Given the description of an element on the screen output the (x, y) to click on. 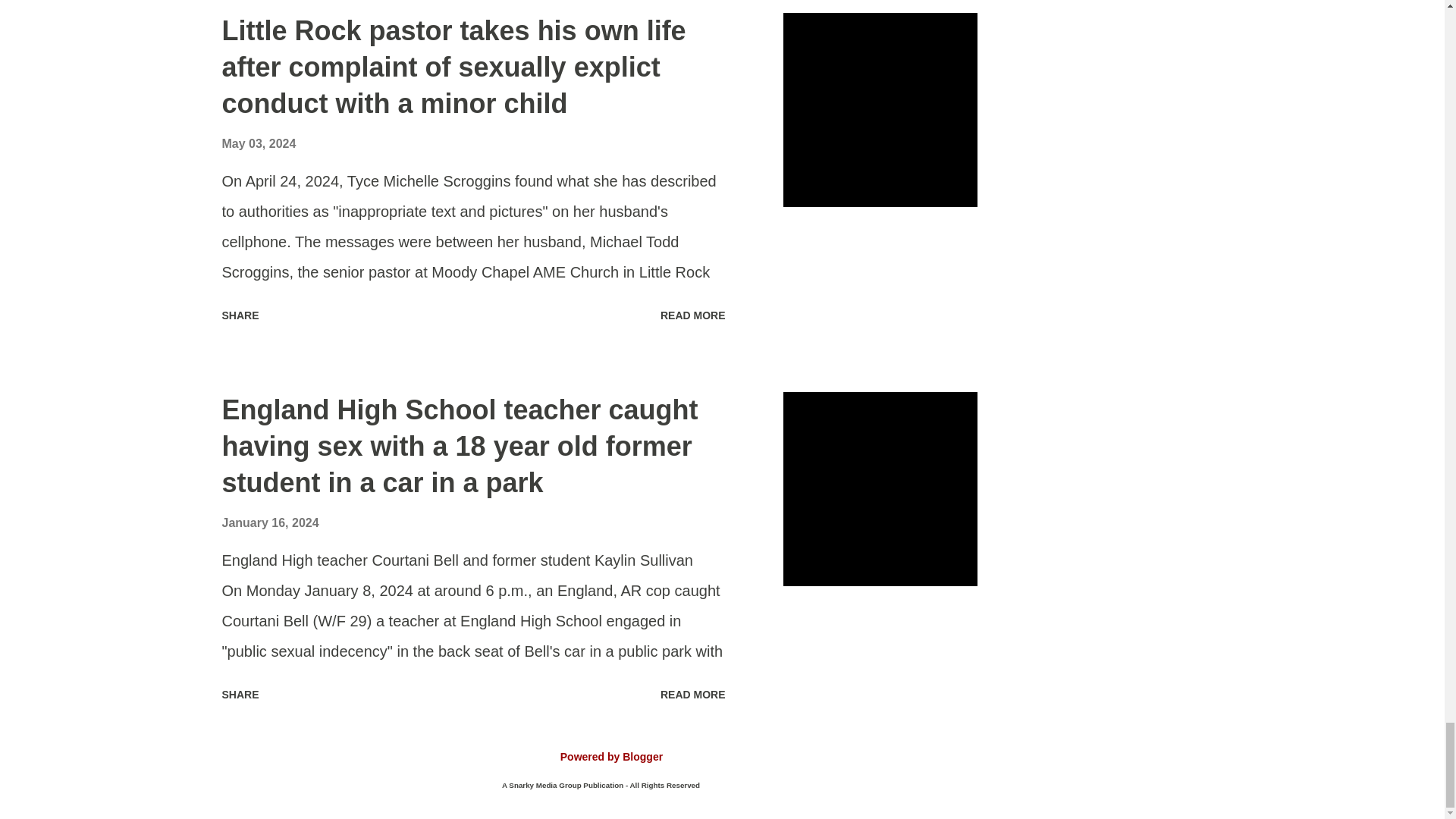
READ MORE (692, 315)
SHARE (239, 315)
May 03, 2024 (258, 143)
